Given the description of an element on the screen output the (x, y) to click on. 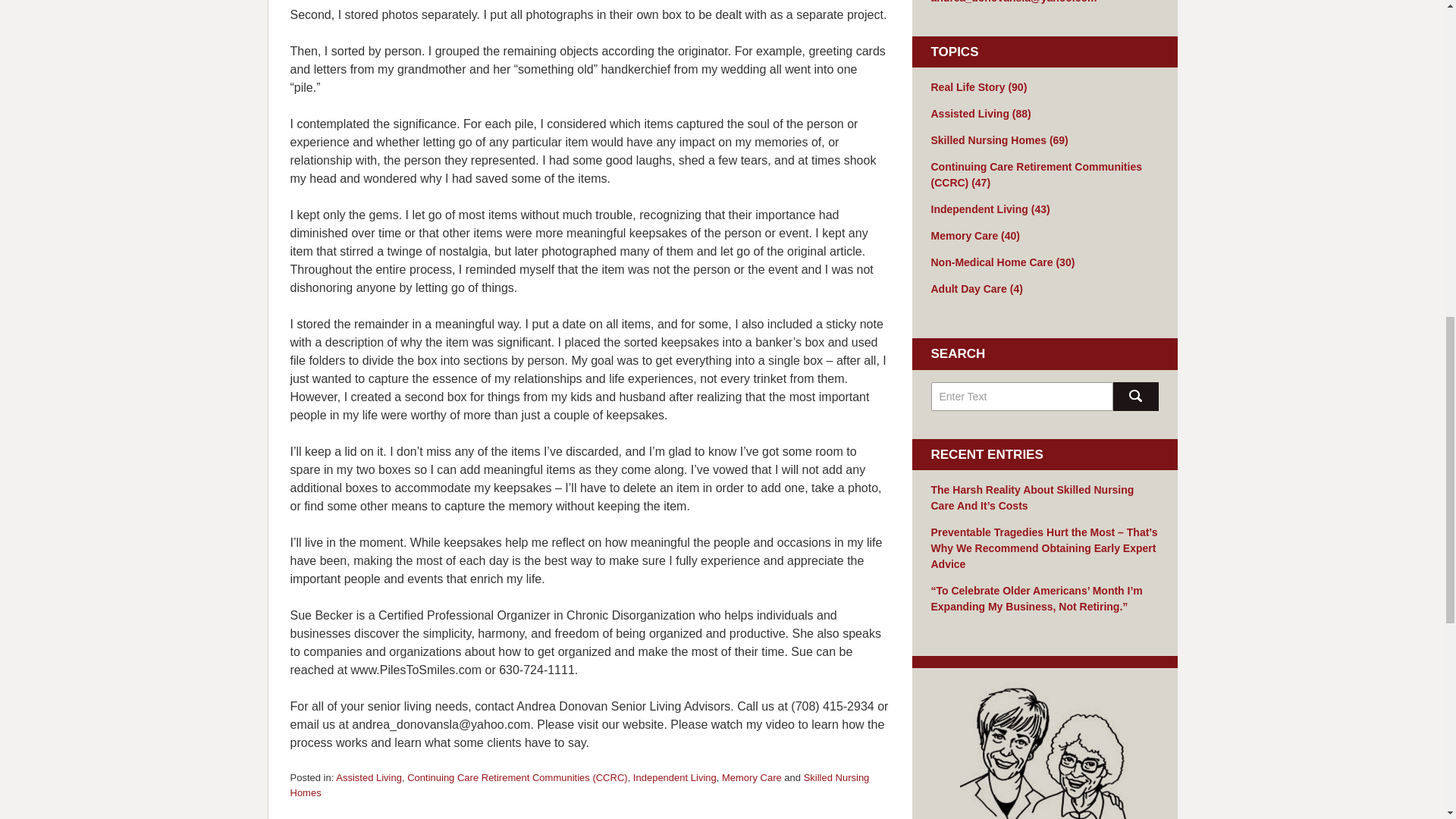
View all posts in Independent Living (674, 777)
Memory Care (751, 777)
Independent Living (674, 777)
View all posts in Assisted Living (368, 777)
View all posts in Skilled Nursing Homes (579, 785)
Assisted Living (368, 777)
View all posts in Memory Care (751, 777)
Skilled Nursing Homes (579, 785)
